Given the description of an element on the screen output the (x, y) to click on. 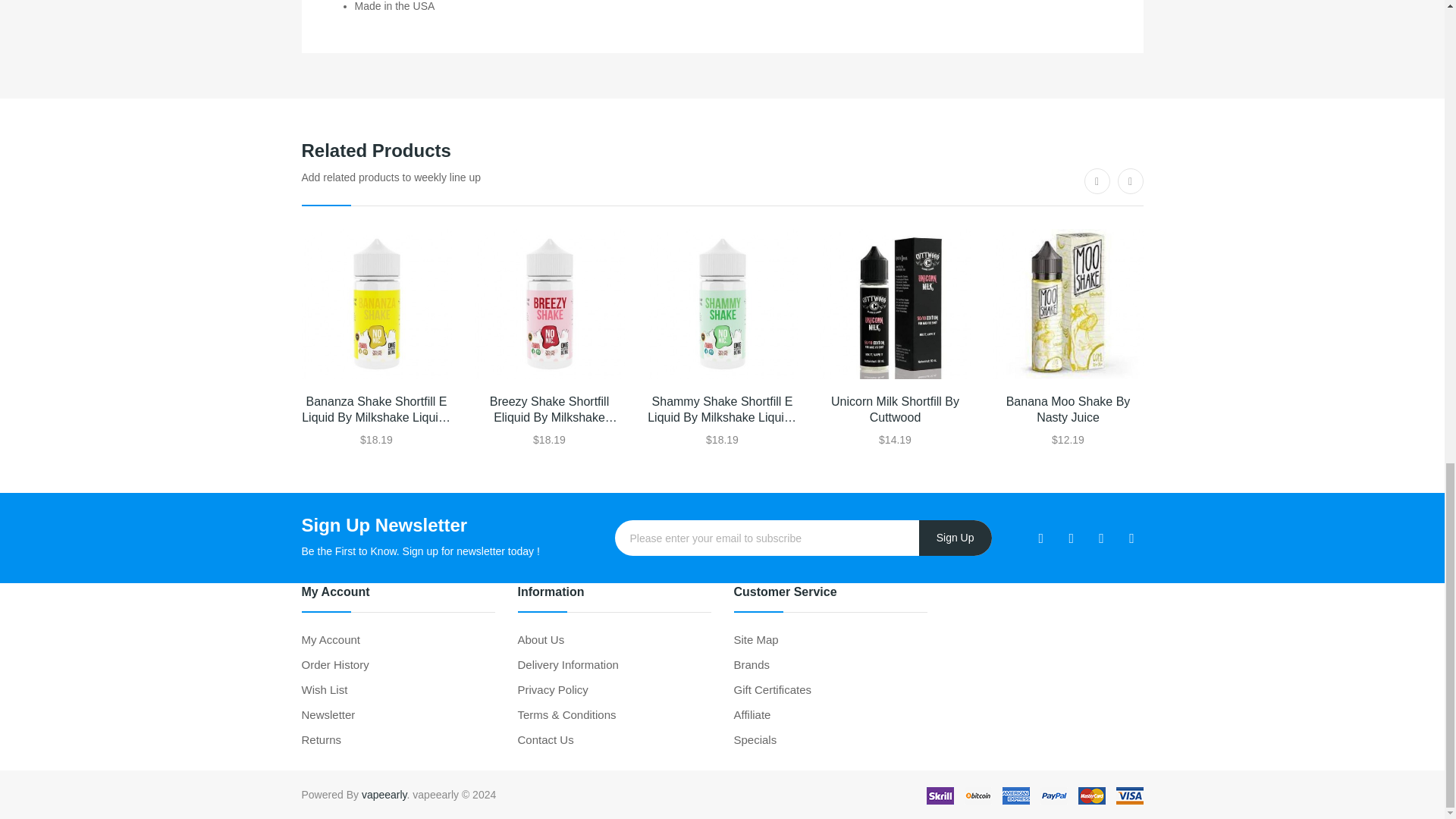
Bananza Shake Shortfill E Liquid by Milkshake Liquids 80ml (376, 304)
Add to Cart (410, 447)
Shammy Shake Shortfill E Liquid by Milkshake Liquids 80ml (722, 304)
Breezy Shake Shortfill Eliquid by Milkshake Liquids 80ml (549, 304)
Add to Cart (583, 447)
